Given the description of an element on the screen output the (x, y) to click on. 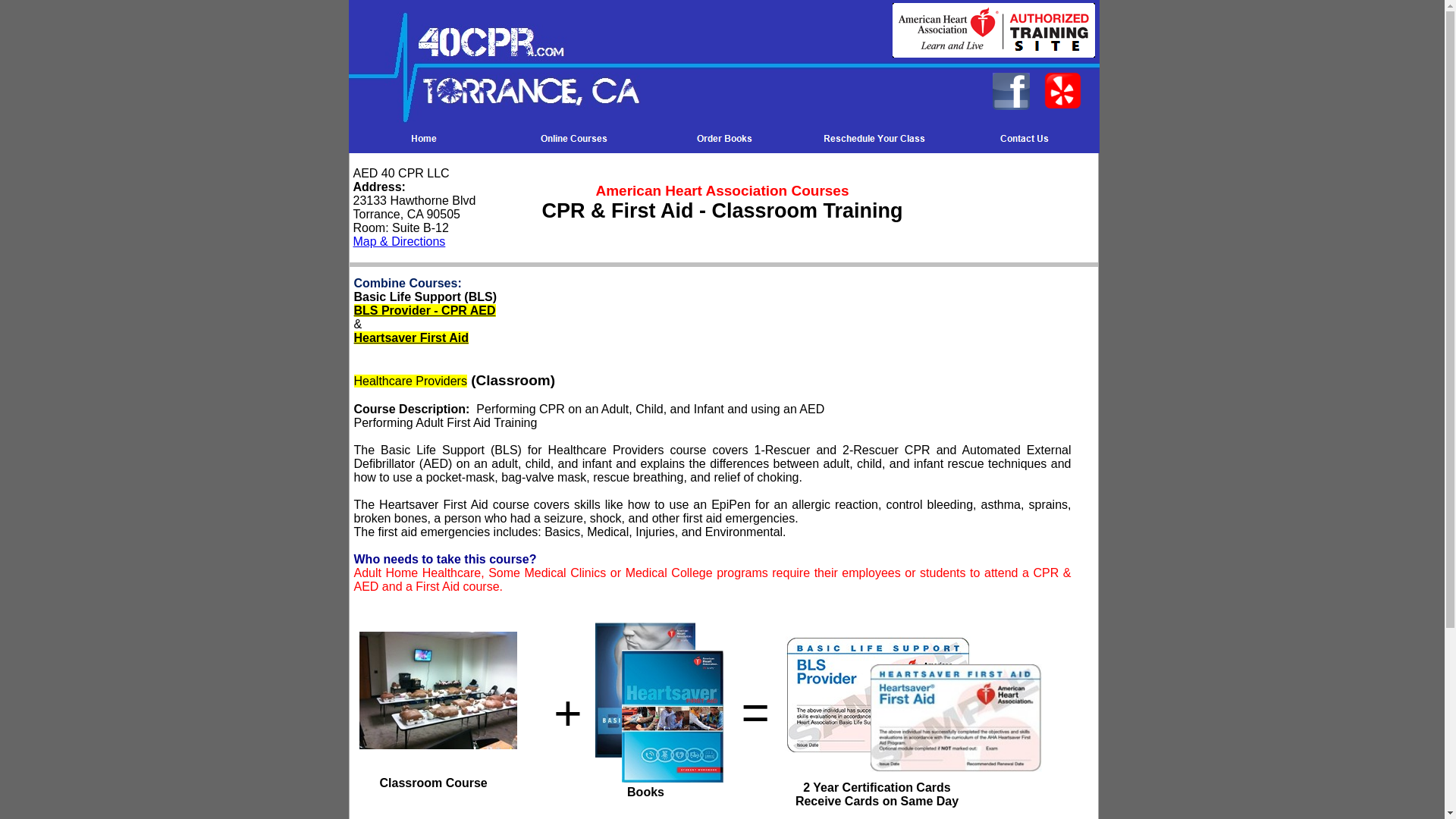
Map & Directions Element type: text (399, 241)
